Given the description of an element on the screen output the (x, y) to click on. 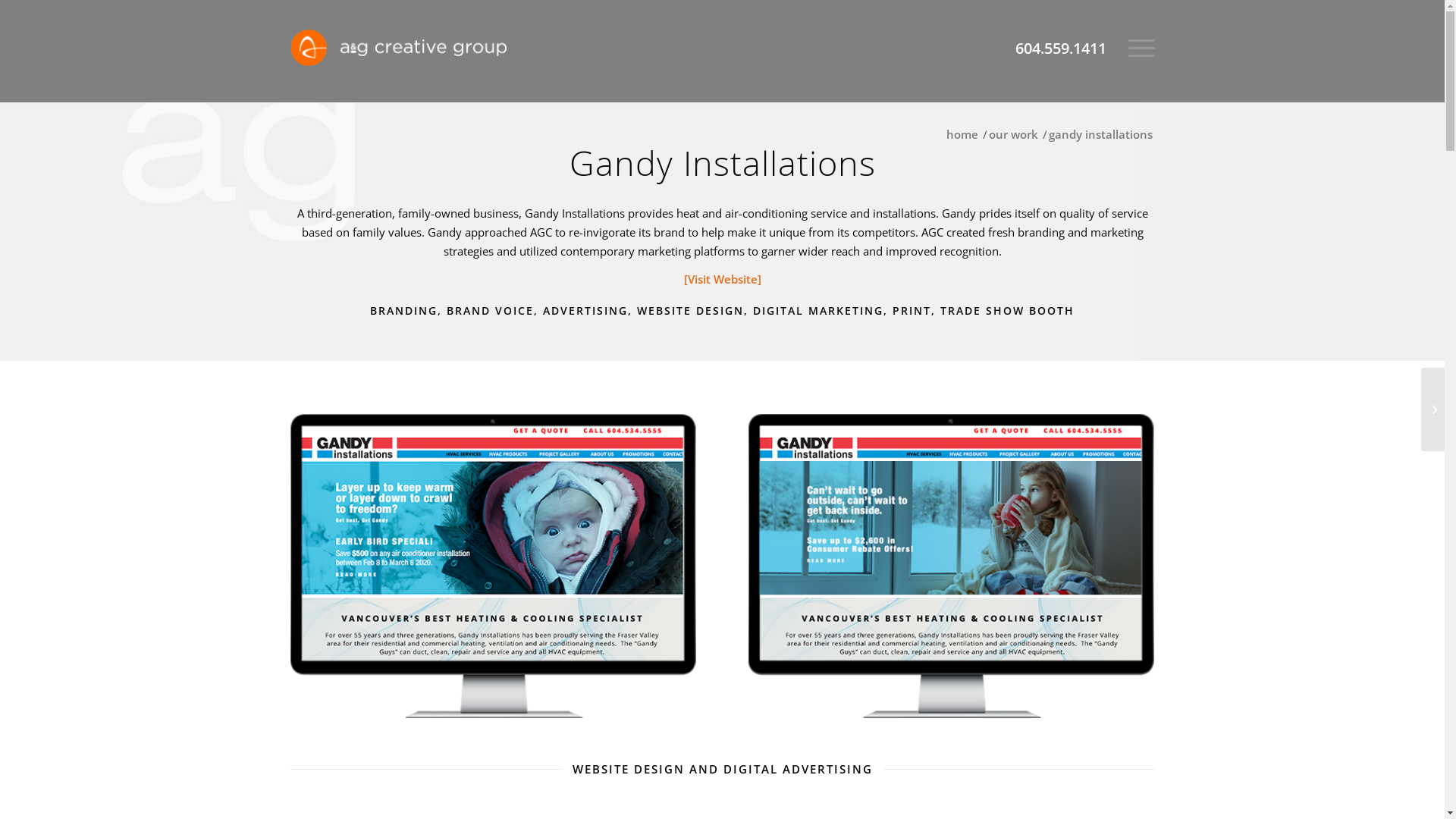
[Visit Website] Element type: text (722, 278)
gandy-img2 Element type: hover (951, 566)
gandy-img1 Element type: hover (492, 566)
our work Element type: text (1012, 134)
home Element type: text (961, 134)
